Given the description of an element on the screen output the (x, y) to click on. 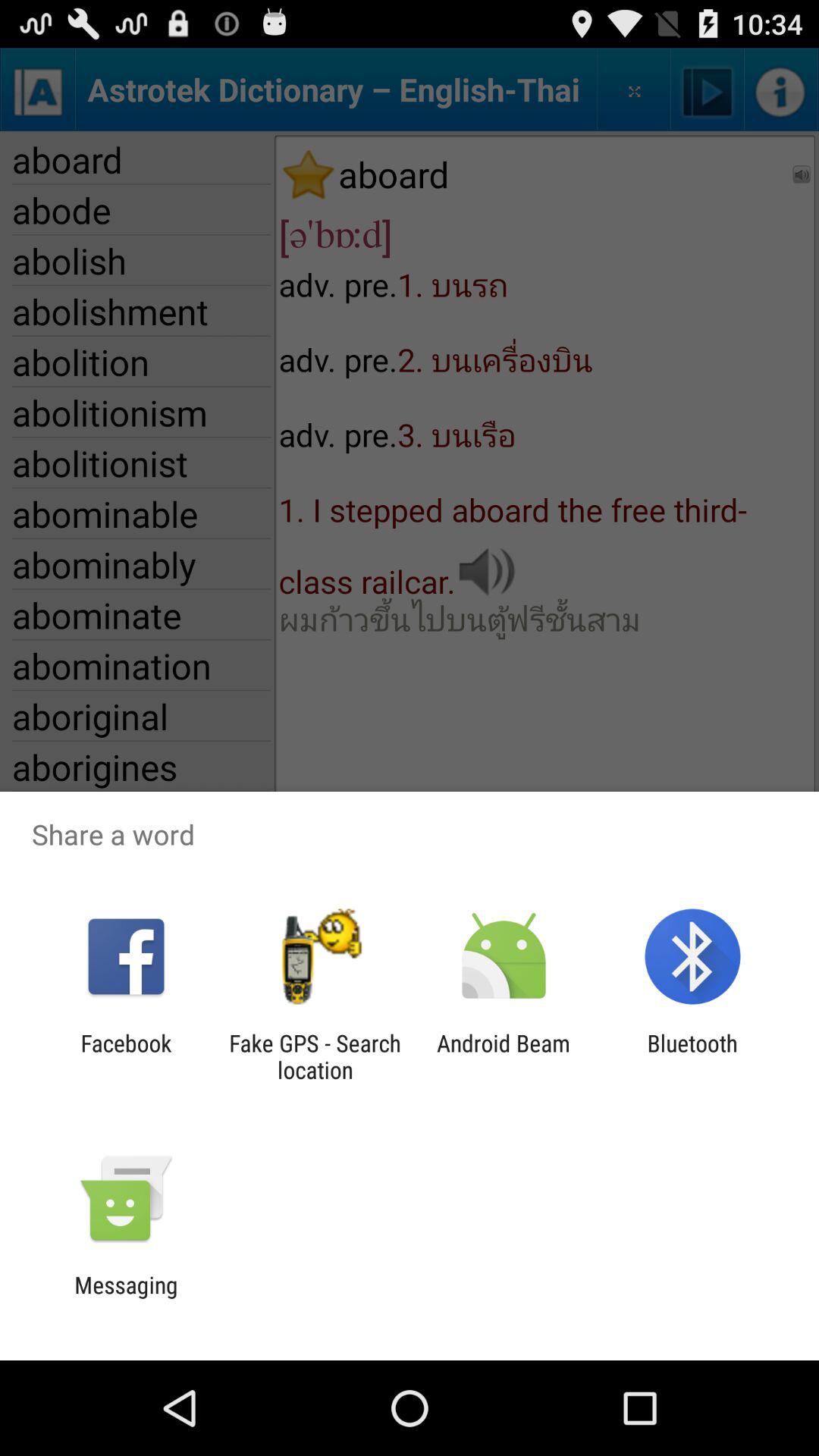
open the app next to the fake gps search item (125, 1056)
